Given the description of an element on the screen output the (x, y) to click on. 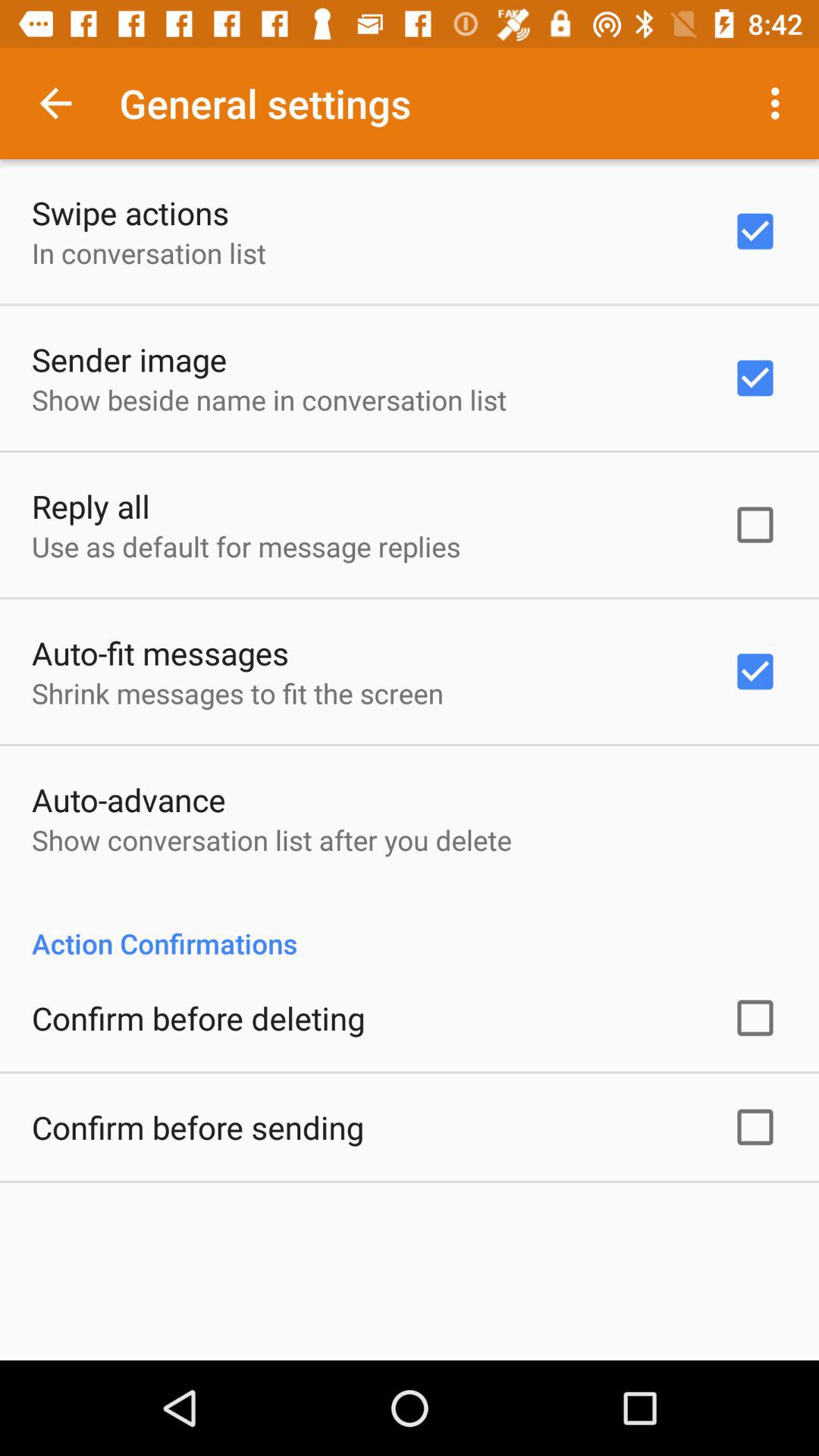
turn off the app below show beside name (90, 505)
